Given the description of an element on the screen output the (x, y) to click on. 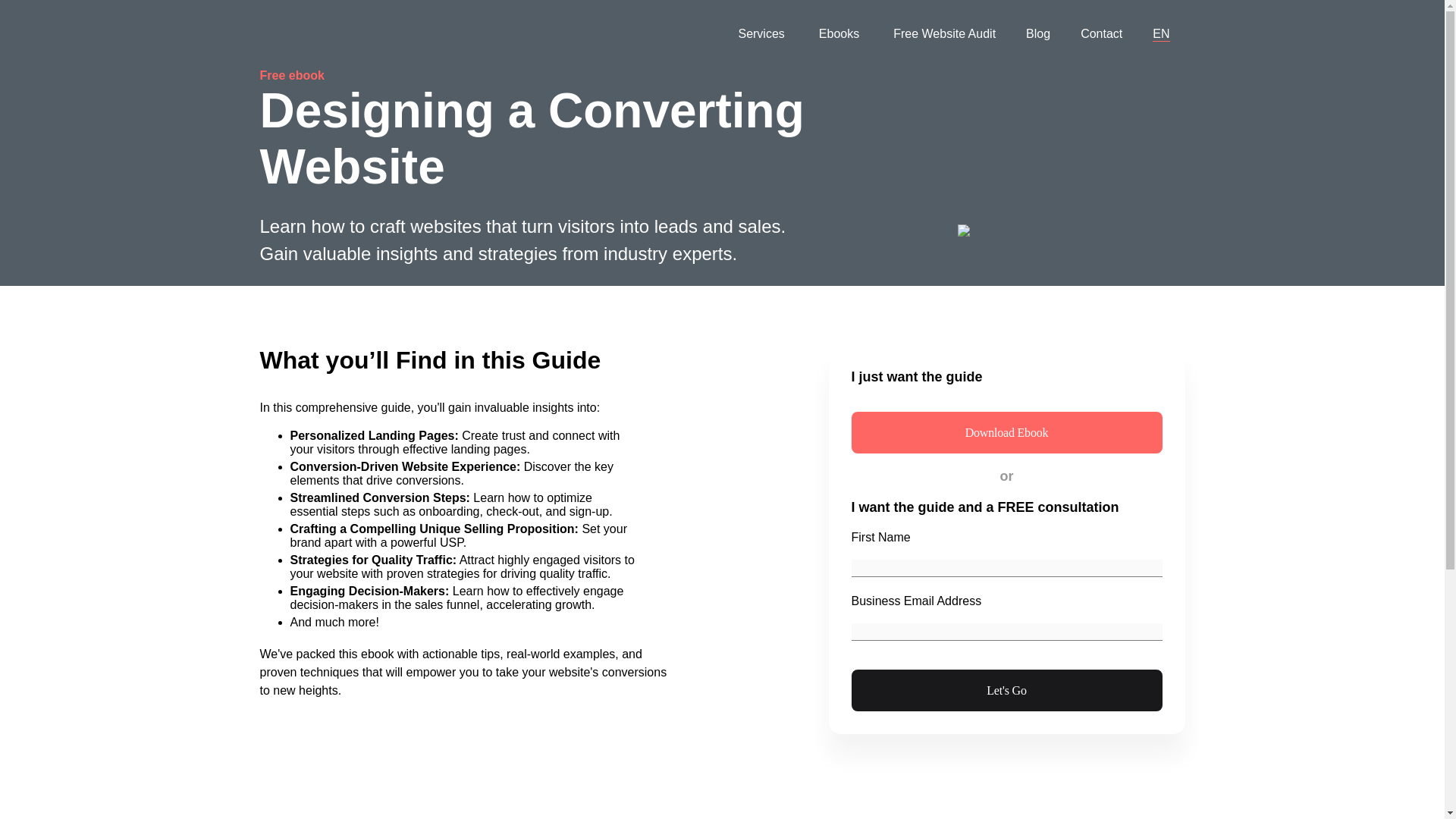
Let's Go (1005, 690)
Blog (1037, 34)
Services (762, 34)
Ebooks (840, 34)
Download Ebook (1005, 432)
Download Ebook (1005, 431)
Free Website Audit (943, 34)
Contact (1101, 34)
